Given the description of an element on the screen output the (x, y) to click on. 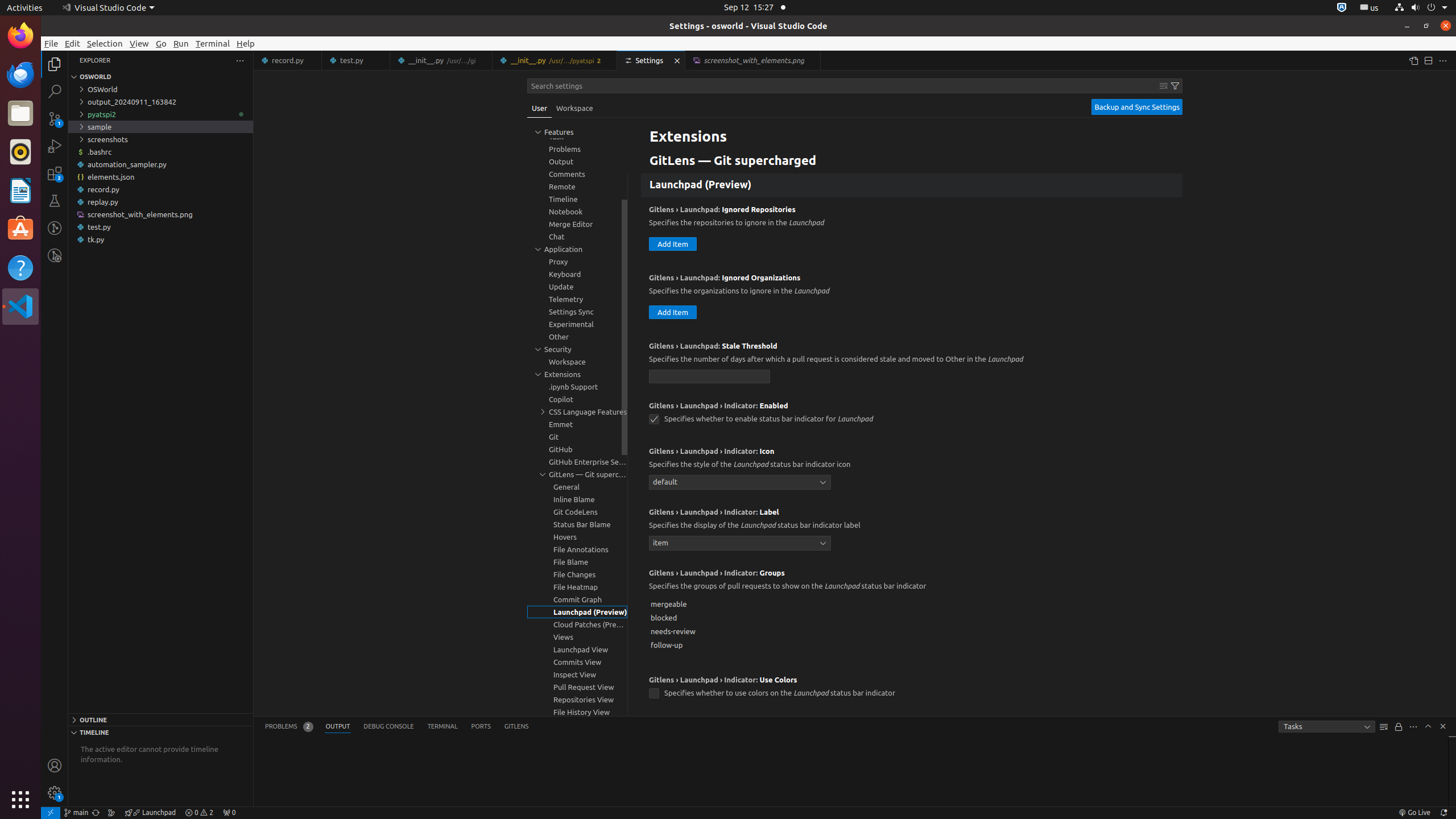
Merge Editor, group Element type: tree-item (577, 223)
Emmet, group Element type: tree-item (577, 424)
Notebook, group Element type: tree-item (577, 211)
output_20240911_163842 Element type: tree-item (160, 101)
